Given the description of an element on the screen output the (x, y) to click on. 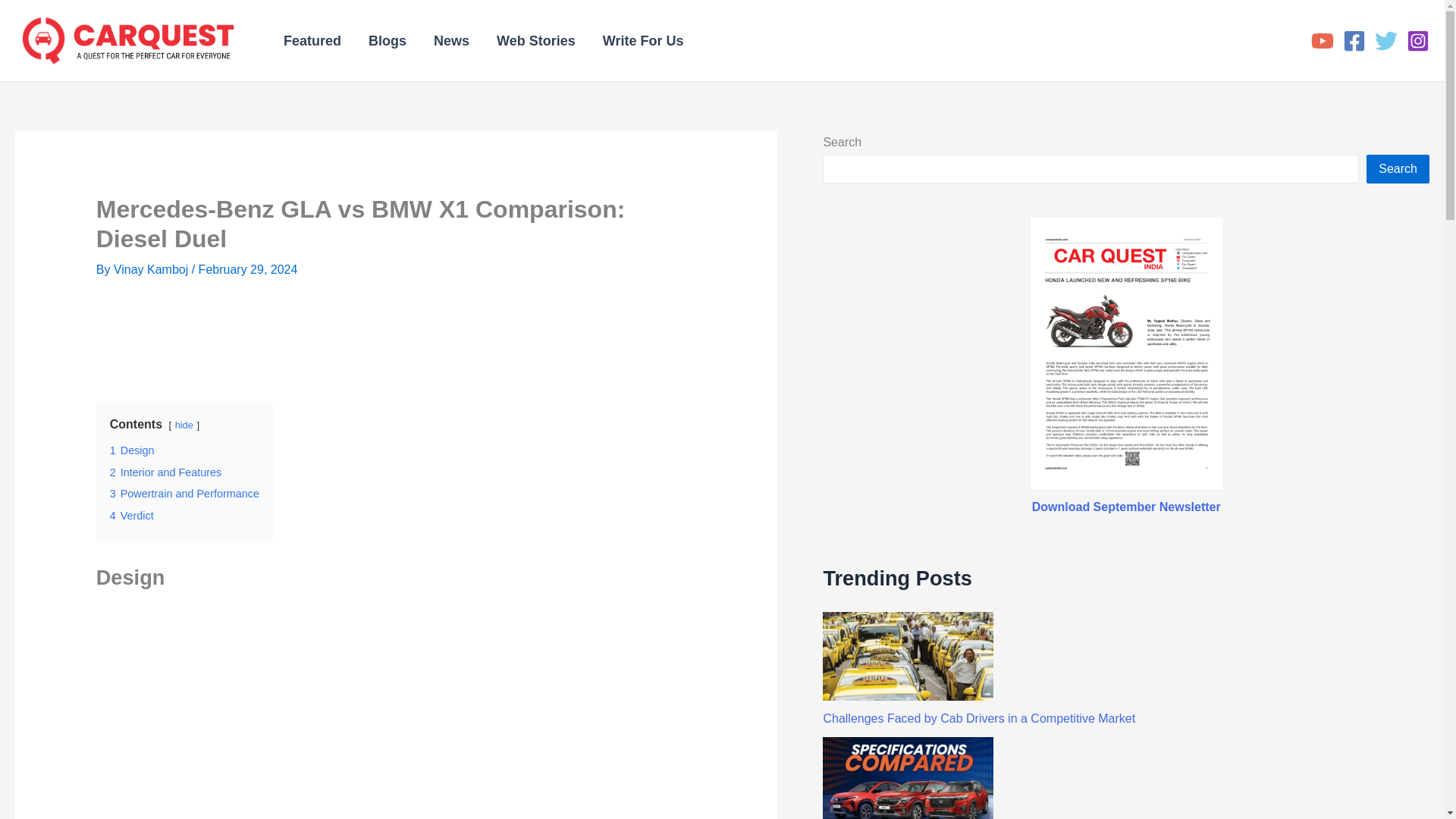
2 Interior and Features (166, 472)
Write For Us (643, 40)
Vinay Kamboj (152, 269)
1 Design (132, 450)
hide (183, 424)
Blogs (387, 40)
4 Verdict (132, 515)
News (451, 40)
Featured (312, 40)
3 Powertrain and Performance (184, 493)
View all posts by Vinay Kamboj (152, 269)
Advertisement (371, 712)
Advertisement (371, 336)
Web Stories (536, 40)
